Given the description of an element on the screen output the (x, y) to click on. 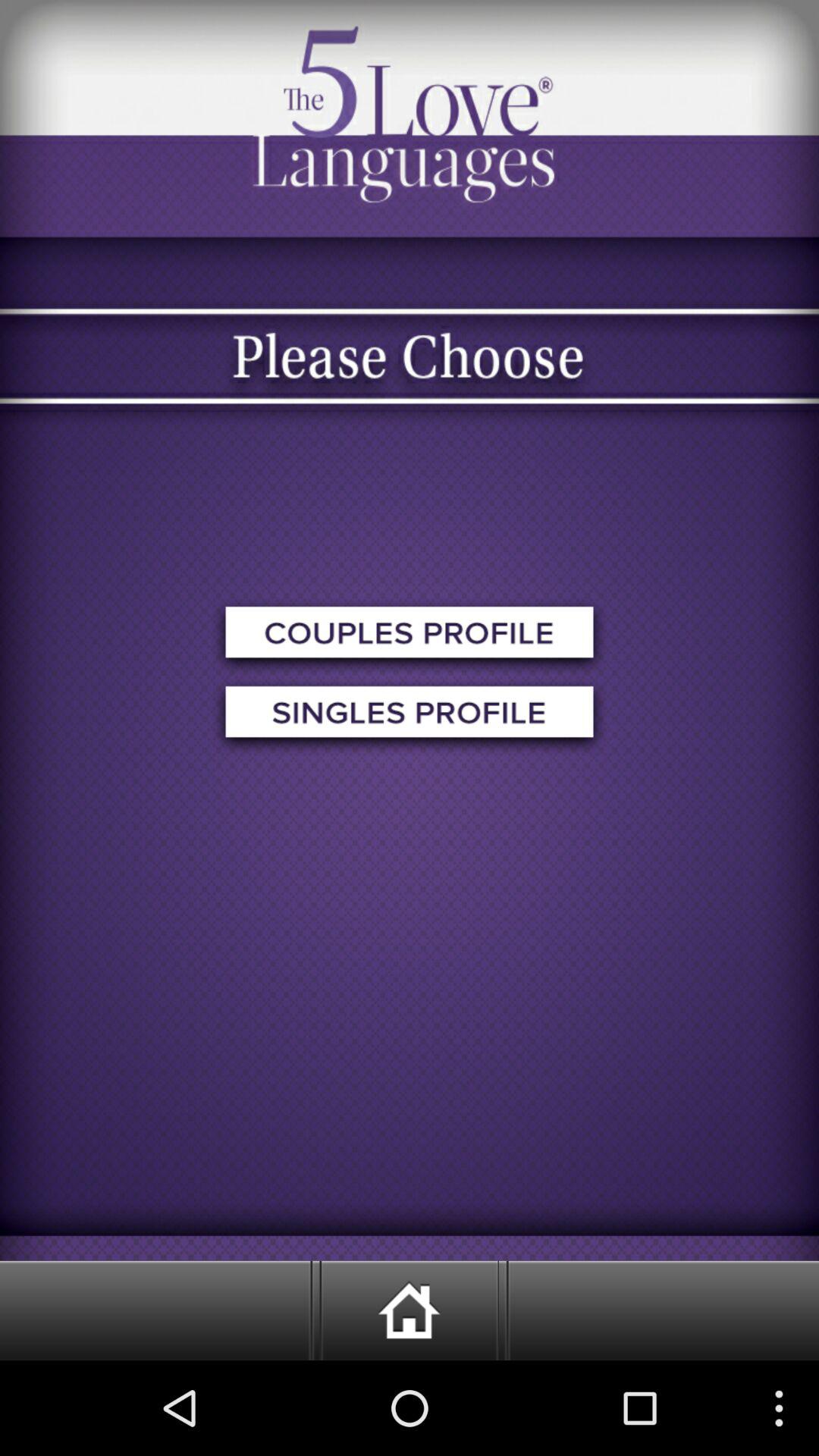
open singles profile (409, 716)
